Given the description of an element on the screen output the (x, y) to click on. 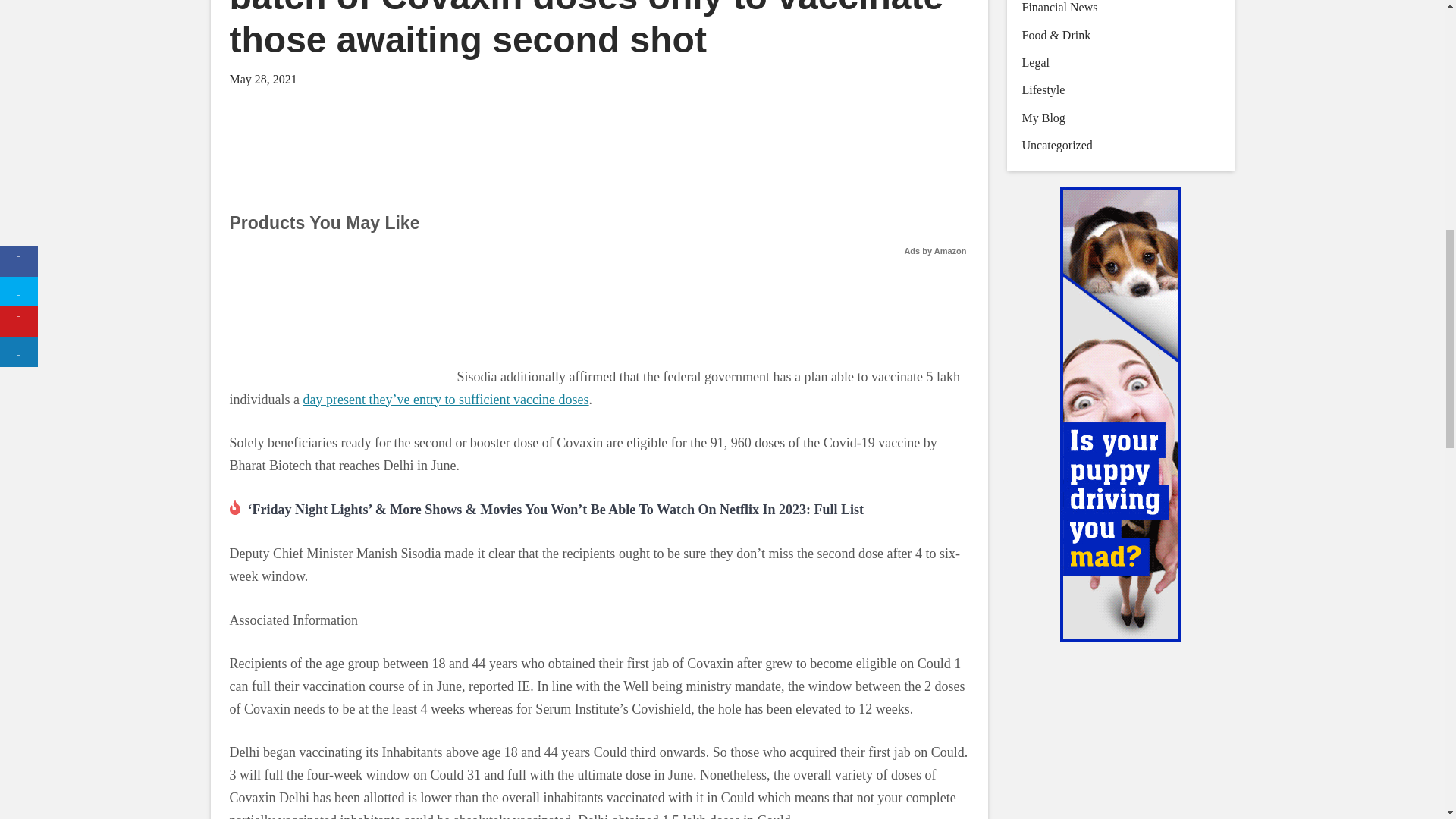
Ads by Amazon (935, 250)
